Given the description of an element on the screen output the (x, y) to click on. 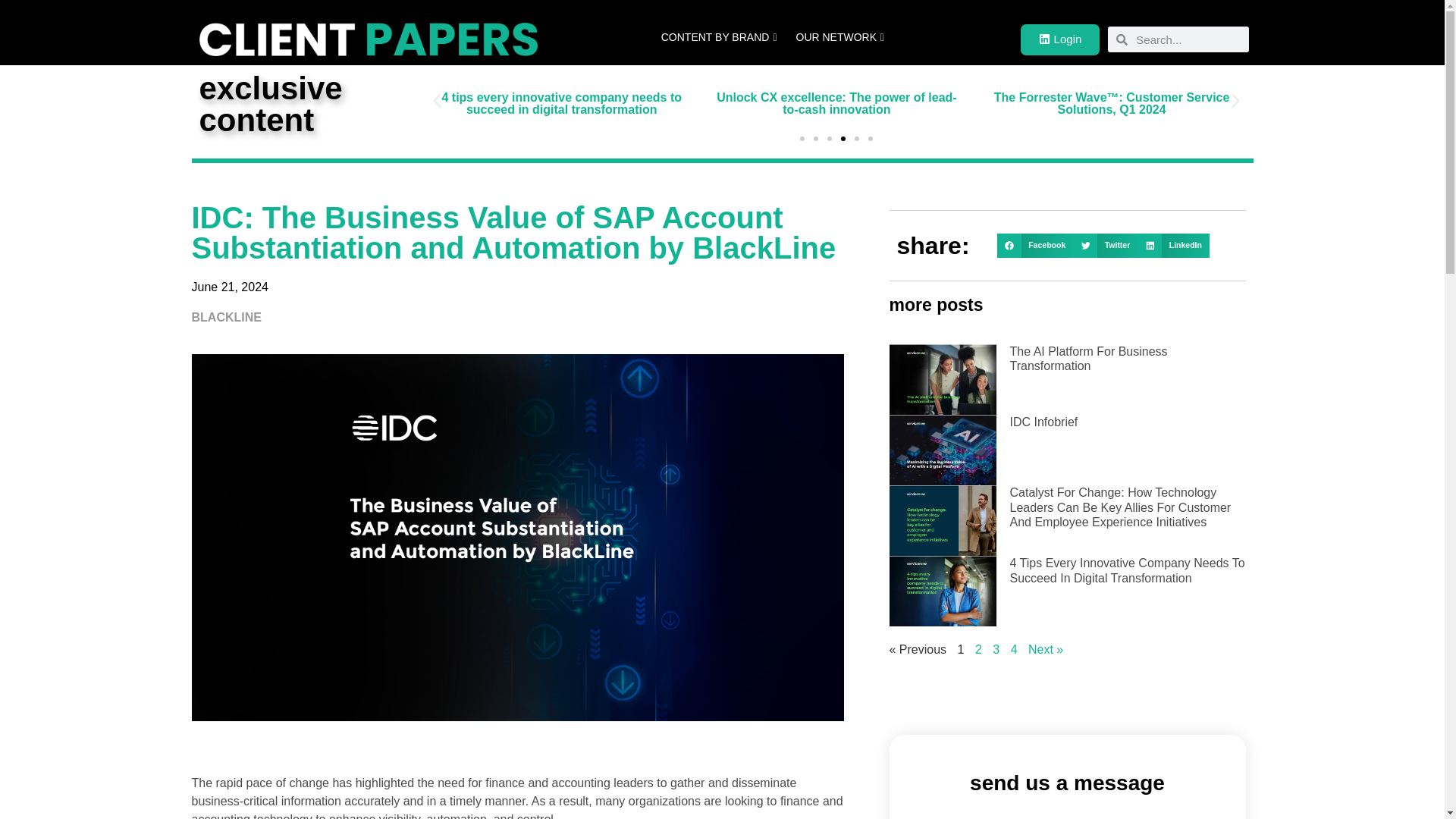
CONTENT BY BRAND (721, 37)
OUR NETWORK (842, 37)
